Given the description of an element on the screen output the (x, y) to click on. 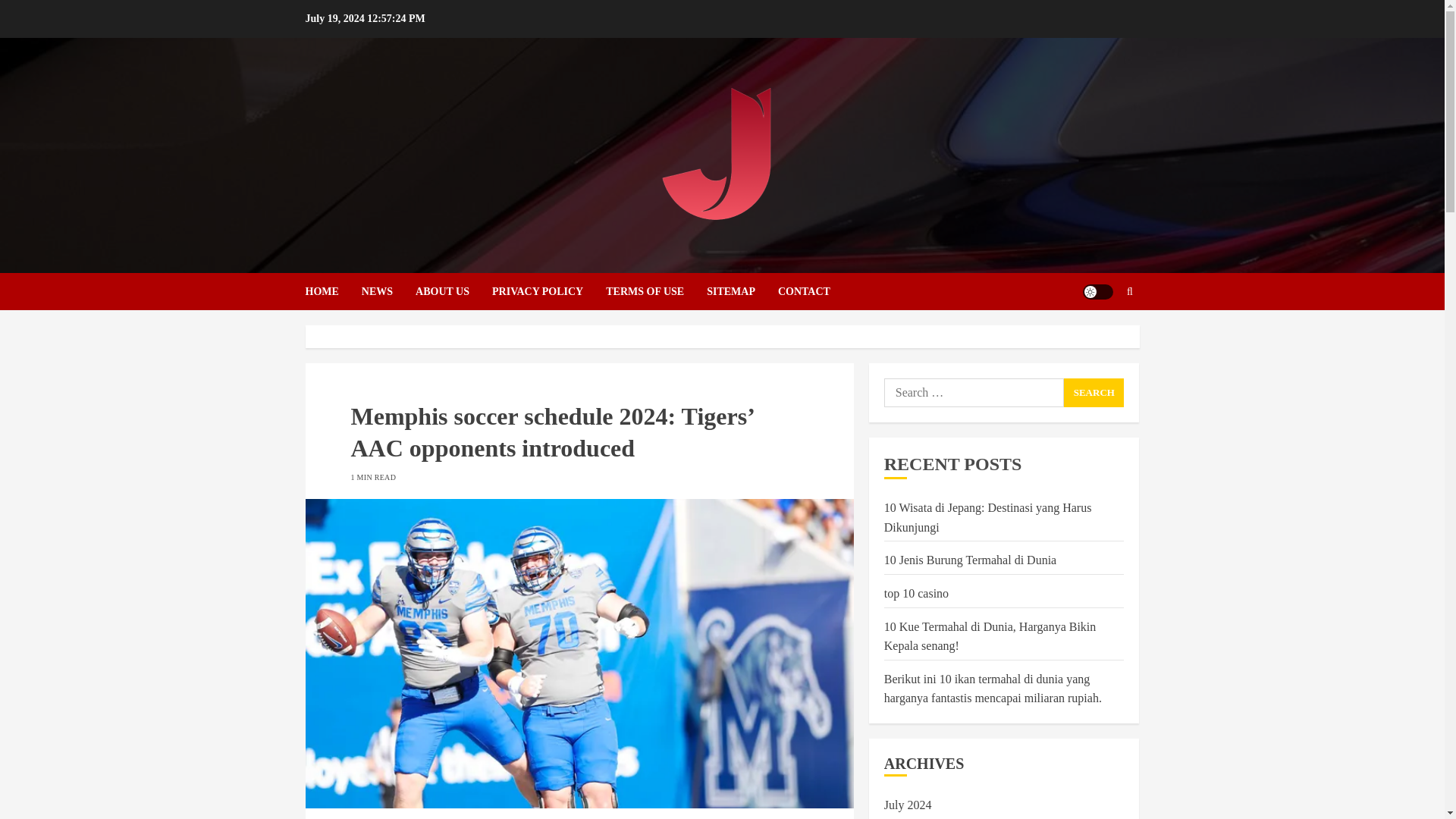
Search (1094, 392)
ABOUT US (453, 291)
PRIVACY POLICY (548, 291)
HOME (332, 291)
Search (1094, 392)
CONTACT (803, 291)
SITEMAP (741, 291)
TERMS OF USE (655, 291)
NEWS (387, 291)
Search (1099, 337)
